Given the description of an element on the screen output the (x, y) to click on. 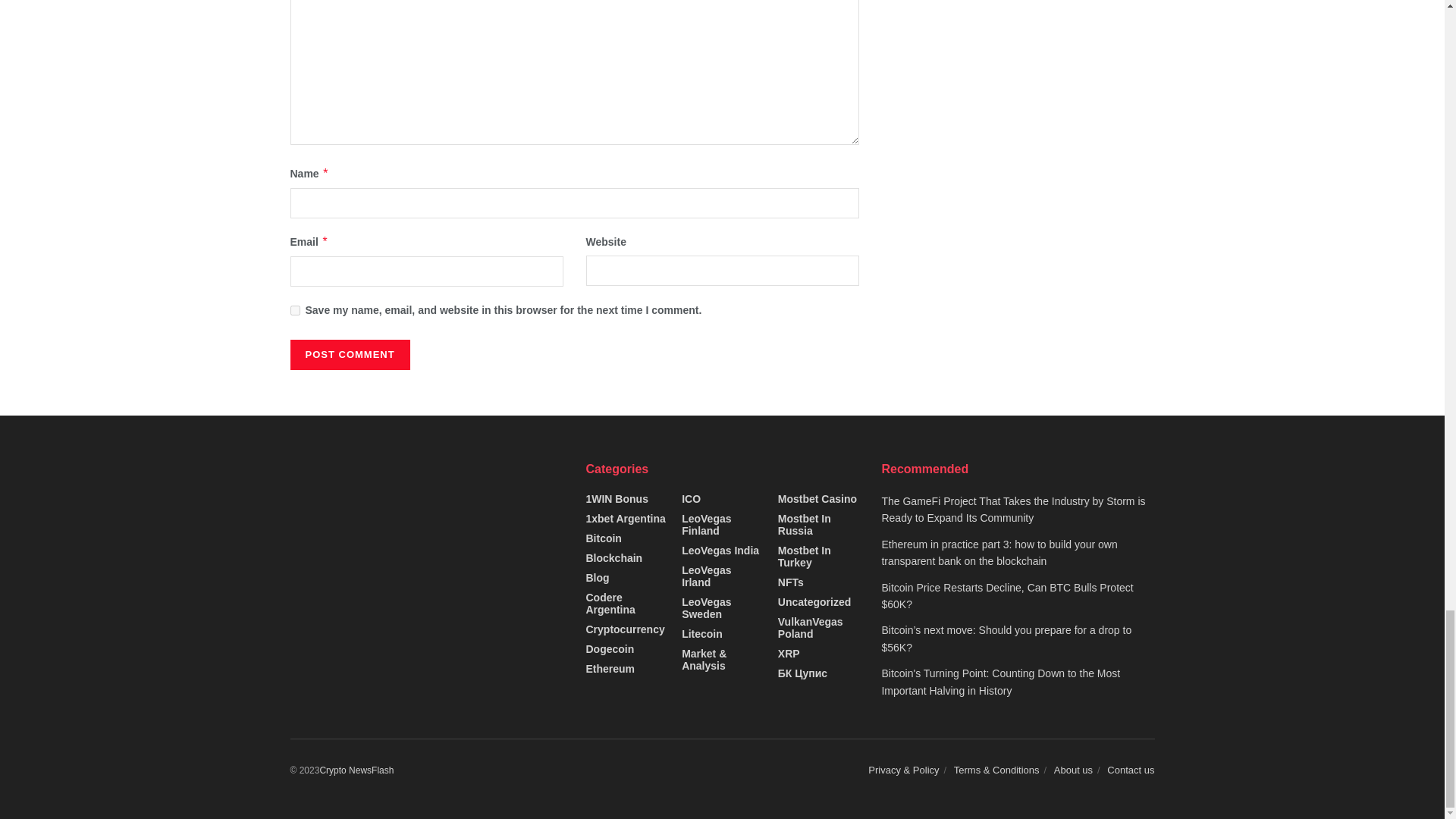
yes (294, 310)
Post Comment (349, 354)
Premium news  (355, 769)
